Given the description of an element on the screen output the (x, y) to click on. 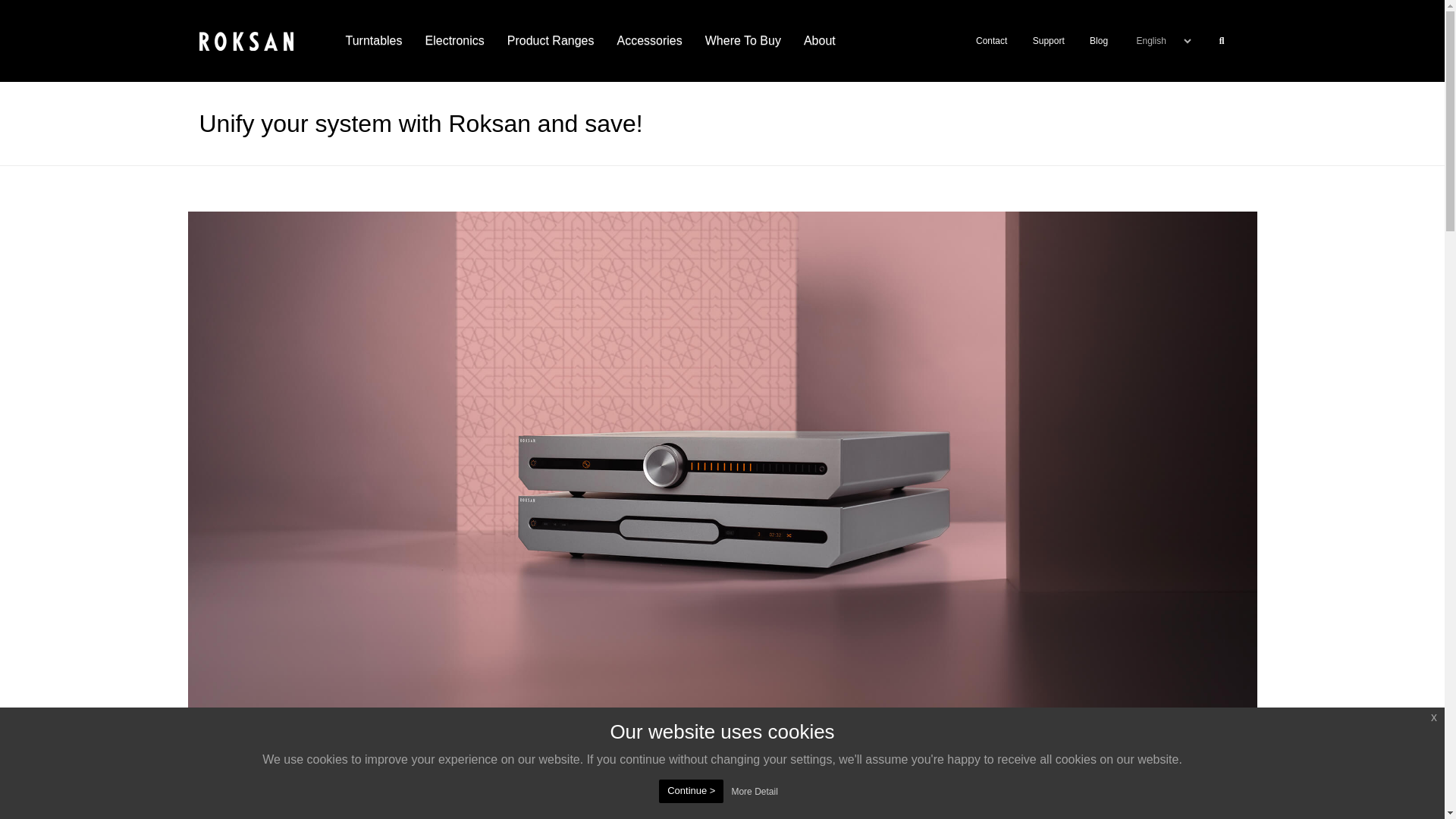
Turntables and Vinyl (373, 40)
Contact (991, 40)
Support (1048, 40)
Product Ranges (550, 40)
Audio Electronics (454, 40)
Blog (1098, 40)
Electronics (454, 40)
Where To Buy (743, 40)
Home Page (246, 40)
Turntables (373, 40)
